Given the description of an element on the screen output the (x, y) to click on. 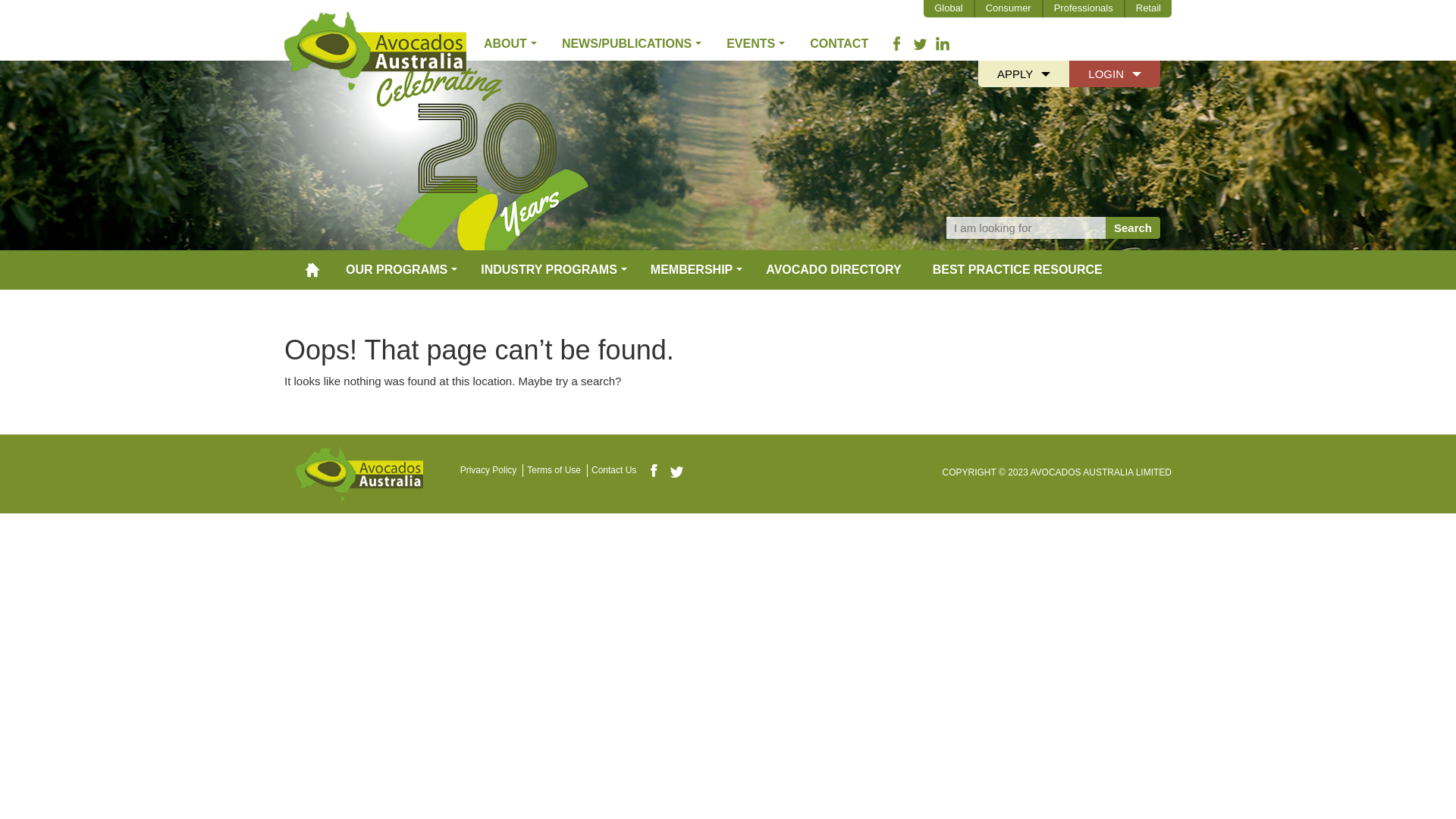
CONTACT Element type: text (838, 43)
APPLY Element type: text (1023, 73)
Search Element type: text (1132, 227)
Professionals Element type: text (1084, 8)
Consumer Element type: text (1009, 8)
OUR PROGRAMS Element type: text (396, 269)
Global Element type: text (949, 8)
NEWS/PUBLICATIONS Element type: text (626, 43)
Twitter Element type: text (676, 471)
ABOUT Element type: text (505, 43)
HOME Element type: text (312, 269)
LOGIN Element type: text (1114, 73)
EVENTS Element type: text (750, 43)
Retail Element type: text (1148, 8)
TWITTER Element type: text (919, 43)
AVOCADO DIRECTORY Element type: text (833, 269)
Terms of Use Element type: text (557, 470)
BEST PRACTICE RESOURCE Element type: text (1017, 269)
Contact Us Element type: text (616, 470)
MEMBERSHIP Element type: text (691, 269)
Facebook Element type: text (653, 470)
FACEBOOK Element type: text (896, 43)
INDUSTRY PROGRAMS Element type: text (548, 269)
Privacy Policy Element type: text (492, 470)
LINKEDIN Element type: text (942, 43)
